Given the description of an element on the screen output the (x, y) to click on. 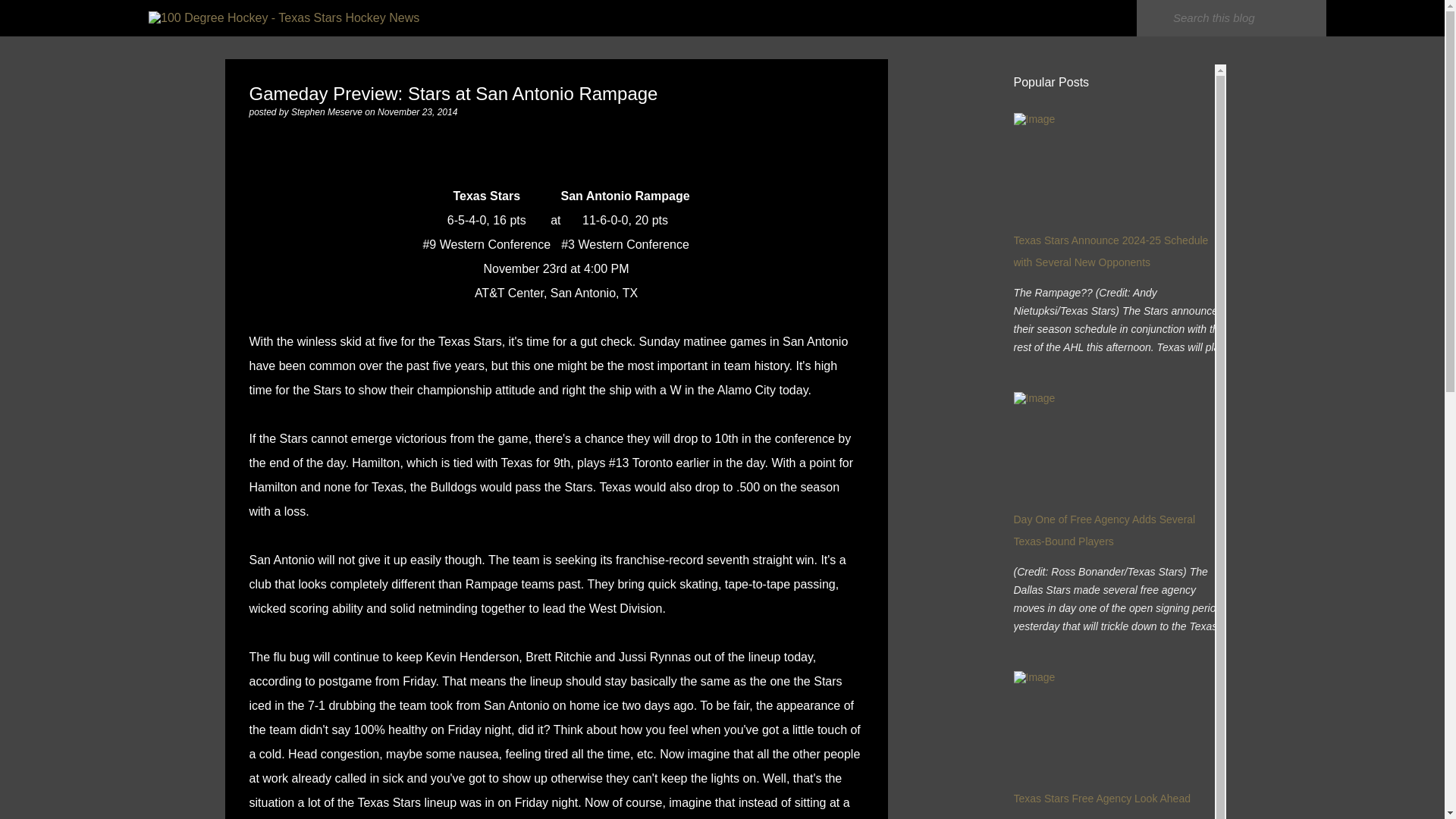
permanent link (417, 112)
Day One of Free Agency Adds Several Texas-Bound Players (1104, 530)
Stephen Meserve (328, 112)
November 23, 2014 (417, 112)
Texas Stars Free Agency Look Ahead (1101, 798)
author profile (328, 112)
